Given the description of an element on the screen output the (x, y) to click on. 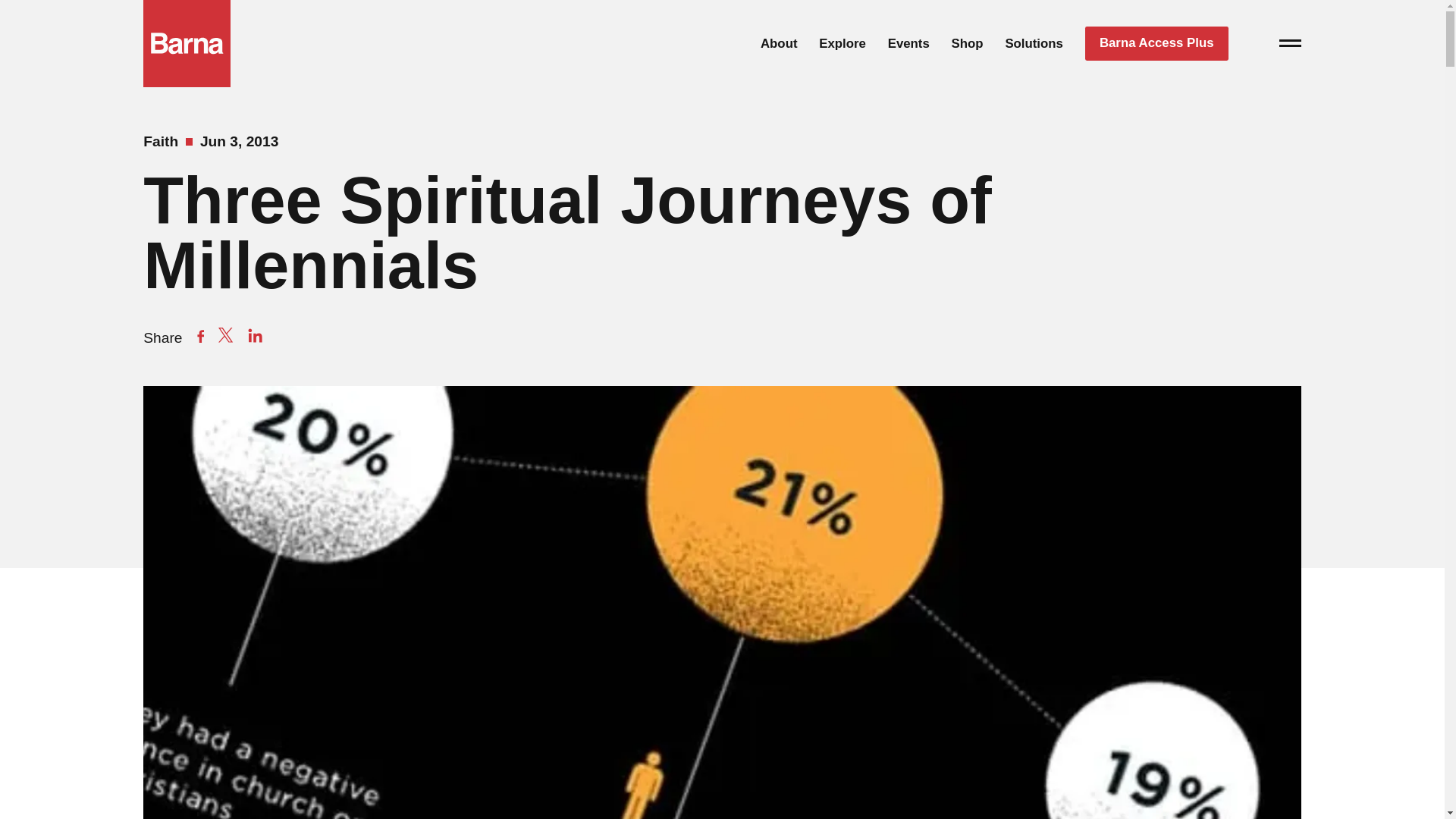
Solutions (1033, 43)
Open main menu (1290, 50)
Events (909, 43)
Faith (159, 142)
About (778, 43)
Share on Twitter (225, 335)
Barna Access Plus (1156, 43)
Explore (842, 43)
Shop (968, 43)
Share on LinkedIn (254, 335)
